Given the description of an element on the screen output the (x, y) to click on. 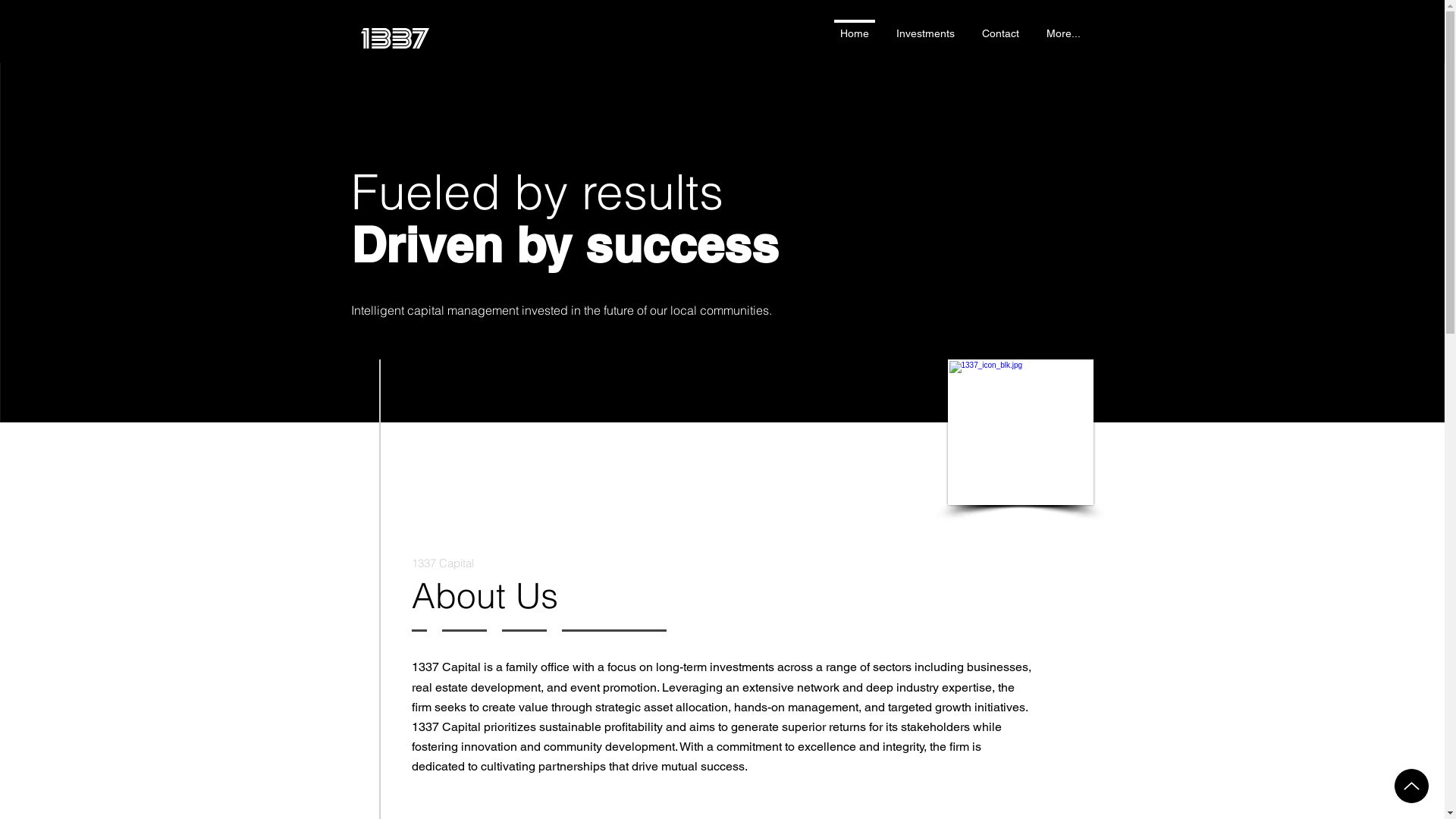
Home Element type: text (854, 33)
Contact Element type: text (999, 33)
Investments Element type: text (925, 33)
